Given the description of an element on the screen output the (x, y) to click on. 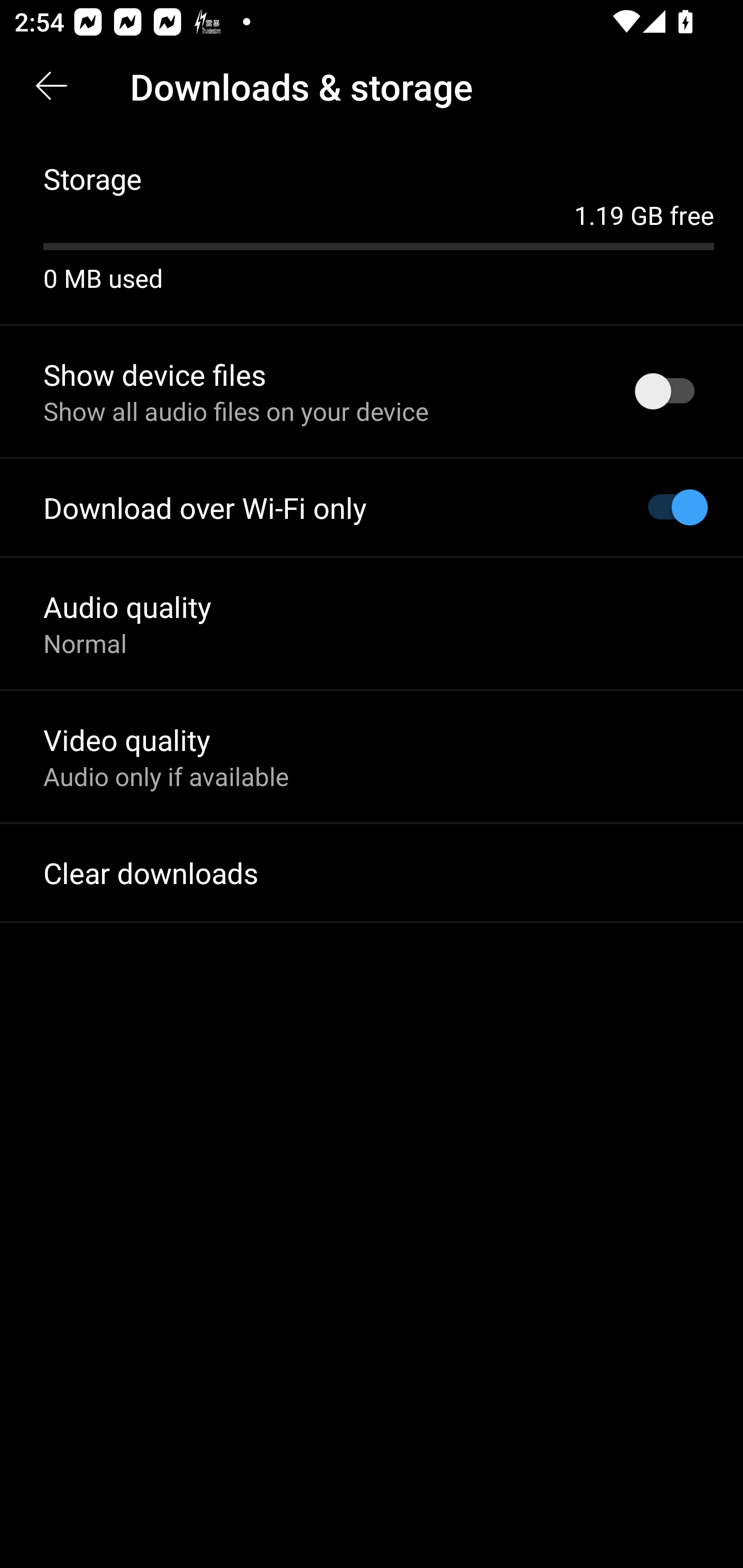
Back (50, 86)
Download over Wi-Fi only (371, 507)
Audio quality Normal (371, 623)
Video quality Audio only if available (371, 756)
Clear downloads (371, 872)
